Given the description of an element on the screen output the (x, y) to click on. 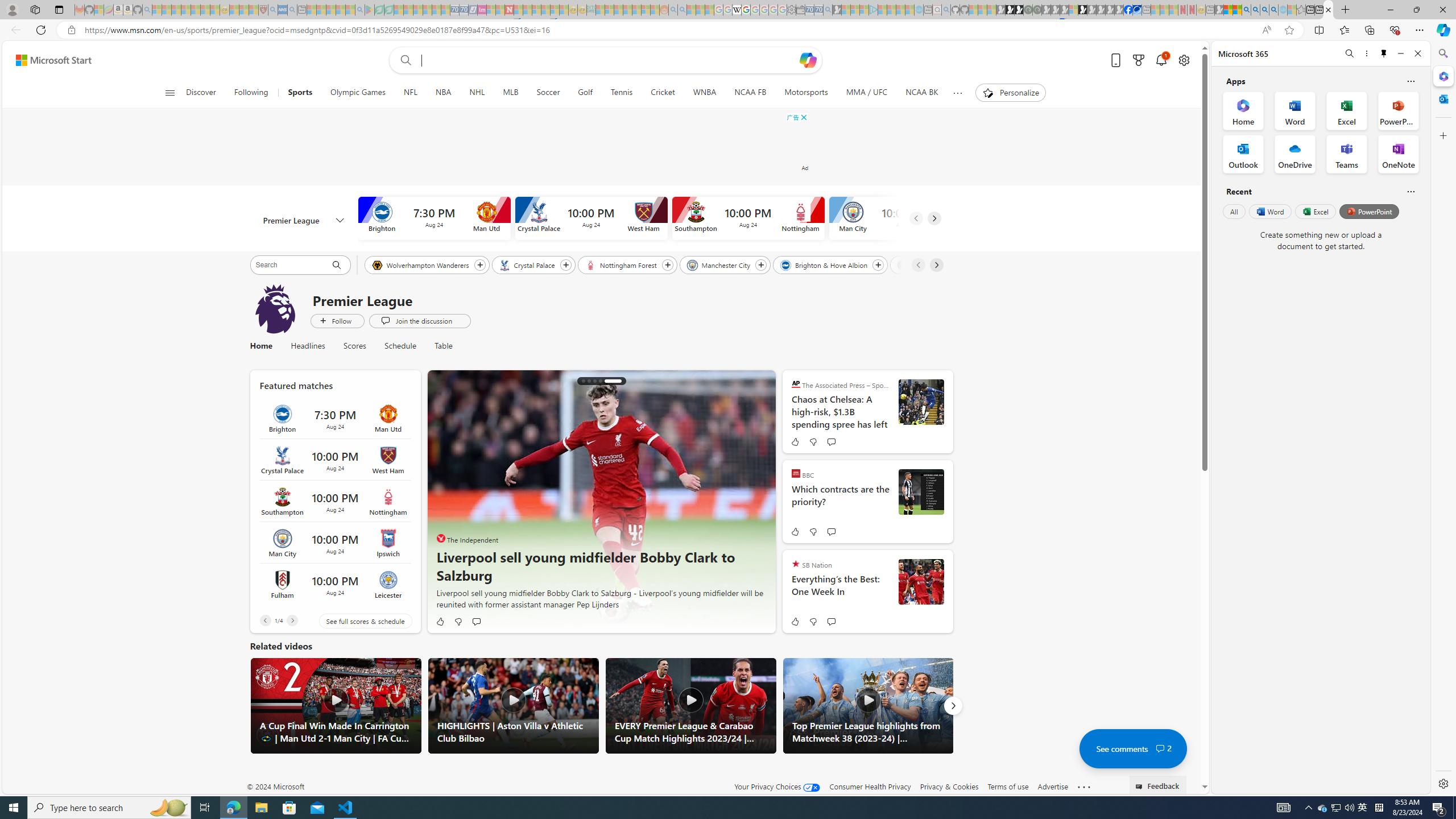
Close Microsoft 365 pane (1442, 76)
Table (442, 345)
WNBA (704, 92)
NFL (410, 92)
Target page - Wikipedia (736, 9)
NFL (410, 92)
